Given the description of an element on the screen output the (x, y) to click on. 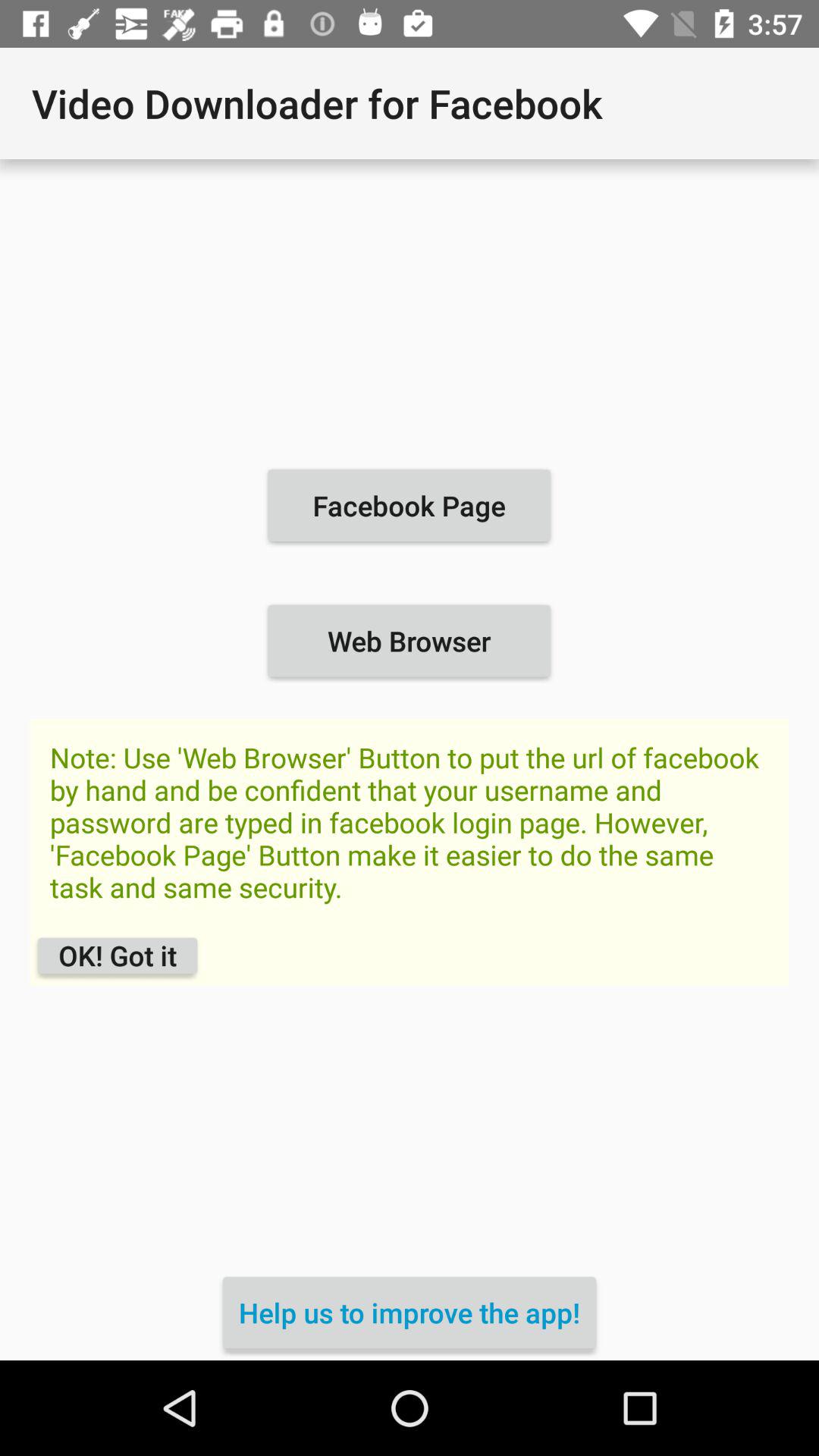
scroll until ok! got it item (117, 955)
